Given the description of an element on the screen output the (x, y) to click on. 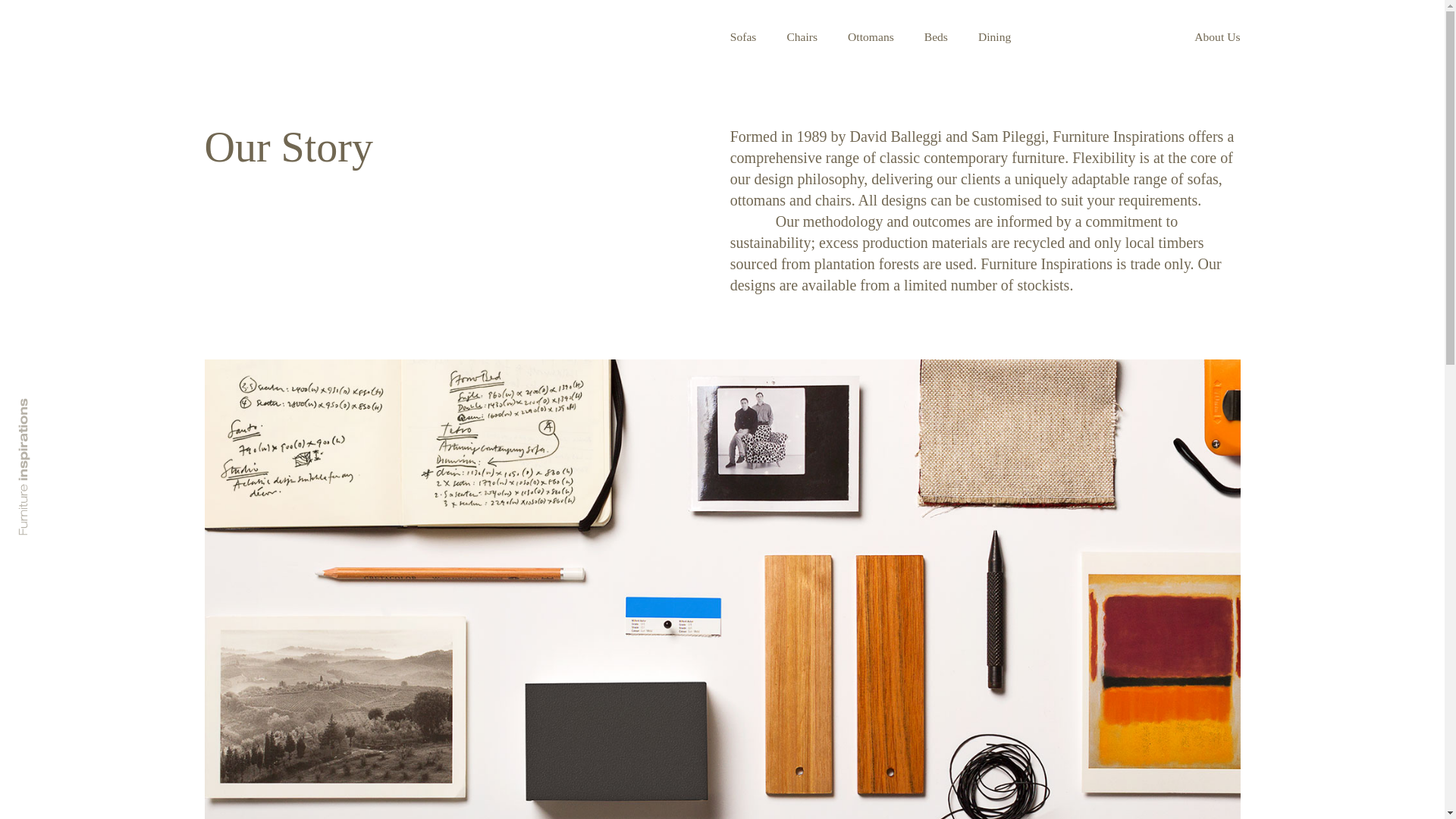
Beds Element type: text (935, 36)
Chairs Element type: text (801, 36)
Dining Element type: text (994, 36)
About Us Element type: text (1216, 36)
Sofas Element type: text (743, 36)
Ottomans Element type: text (870, 36)
